Given the description of an element on the screen output the (x, y) to click on. 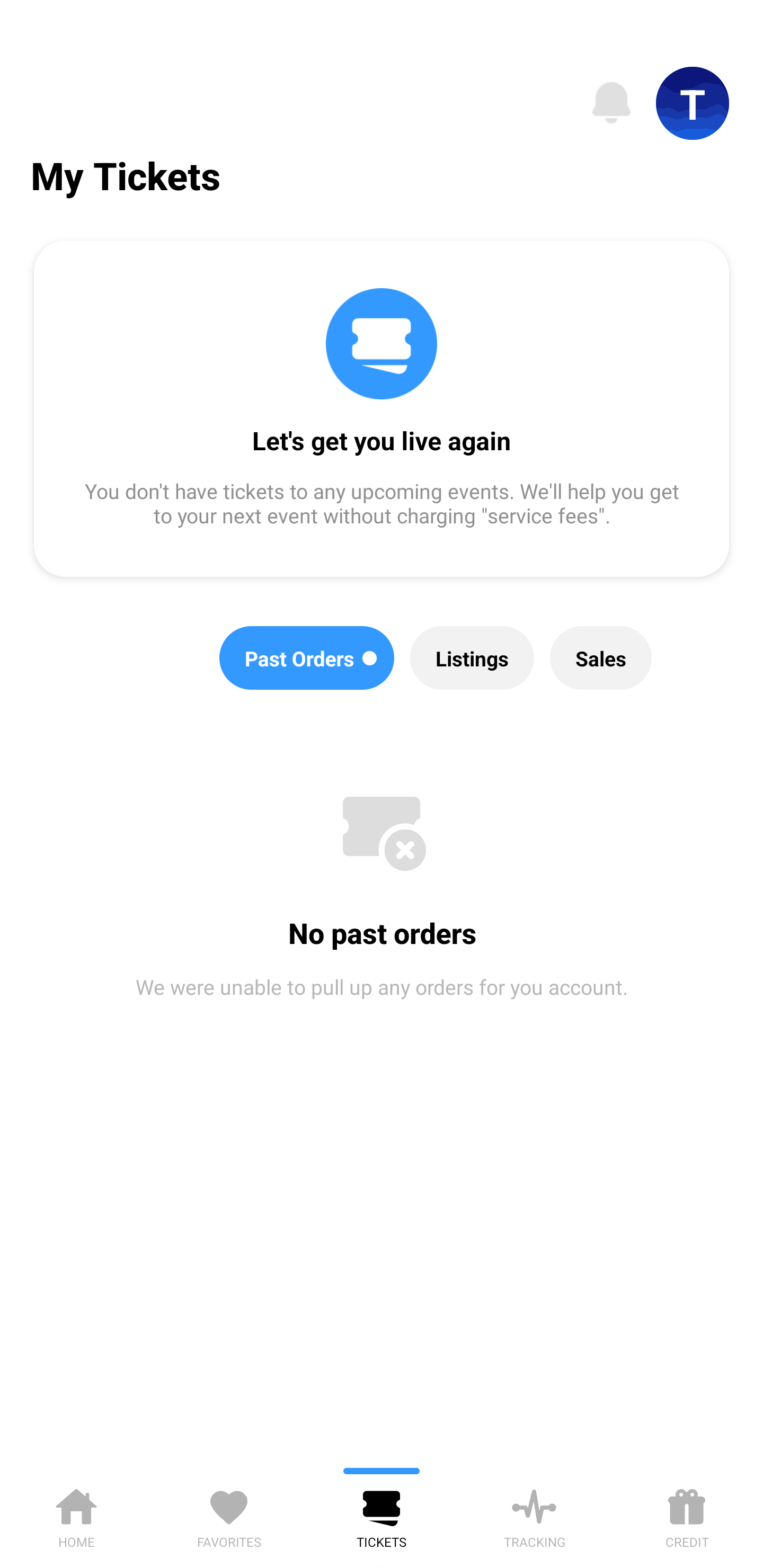
T (692, 103)
Past Orders (306, 657)
Listings (472, 657)
Sales (600, 657)
HOME (76, 1515)
FAVORITES (228, 1515)
TICKETS (381, 1515)
TRACKING (533, 1515)
CREDIT (686, 1515)
